Given the description of an element on the screen output the (x, y) to click on. 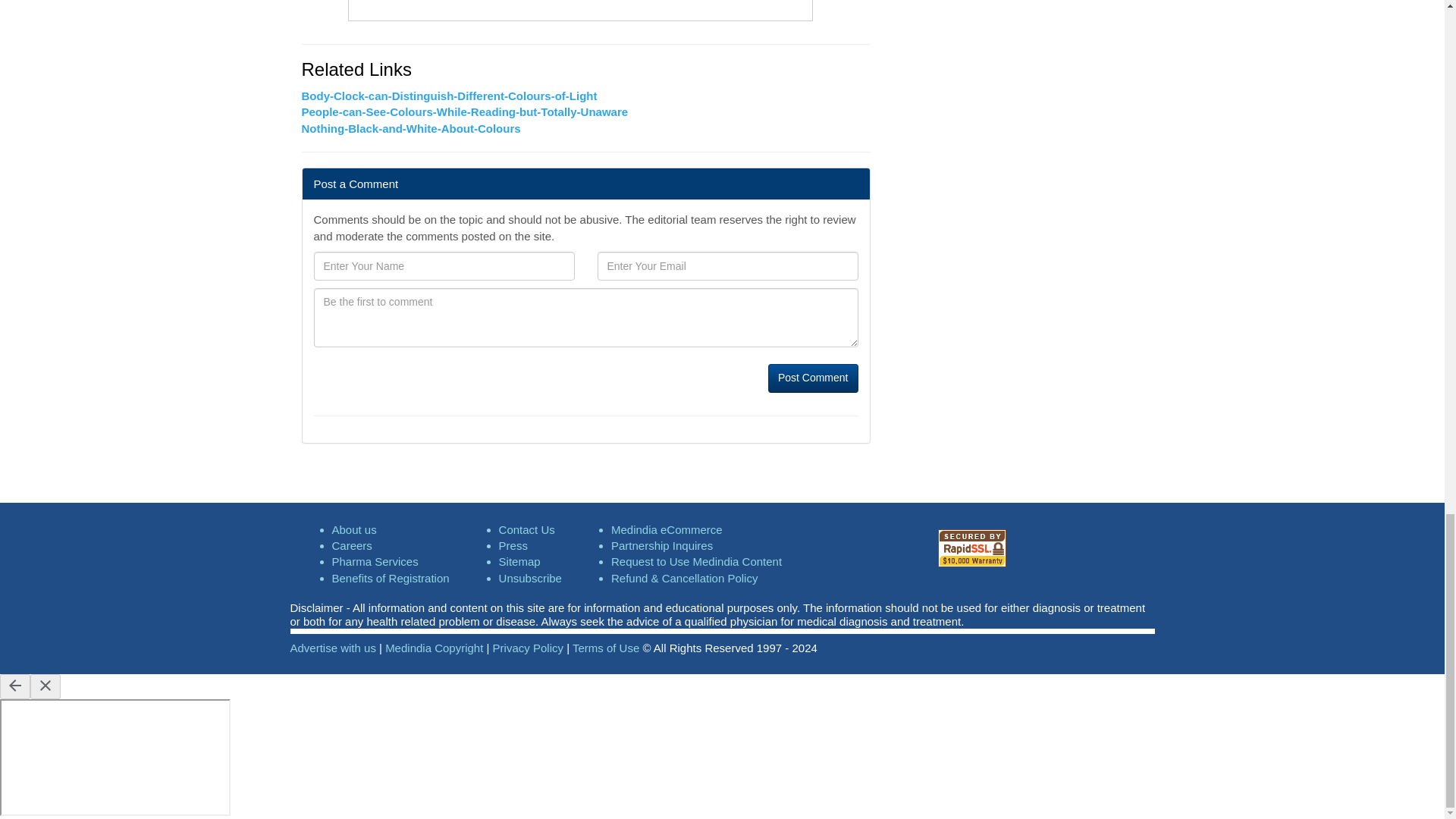
Body-Clock-can-Distinguish-Different-Colours-of-Light (448, 95)
People-can-See-Colours-While-Reading-but-Totally-Unaware (464, 111)
Nothing-Black-and-White-About-Colours (411, 128)
Post Comment (813, 378)
